Given the description of an element on the screen output the (x, y) to click on. 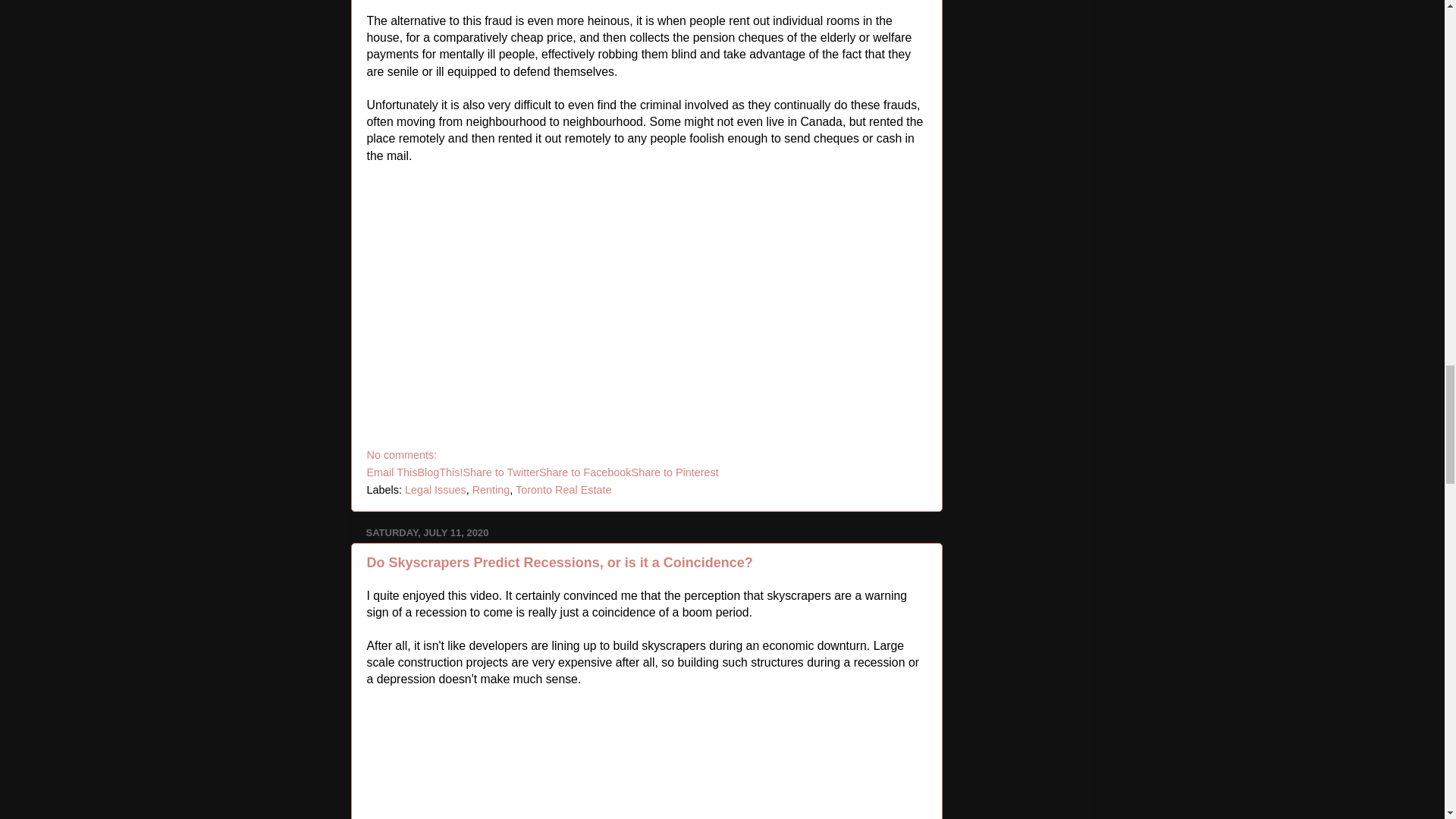
Share to Twitter (500, 472)
Email This (391, 472)
Share to Facebook (584, 472)
BlogThis! (439, 472)
Share to Pinterest (675, 472)
